Given the description of an element on the screen output the (x, y) to click on. 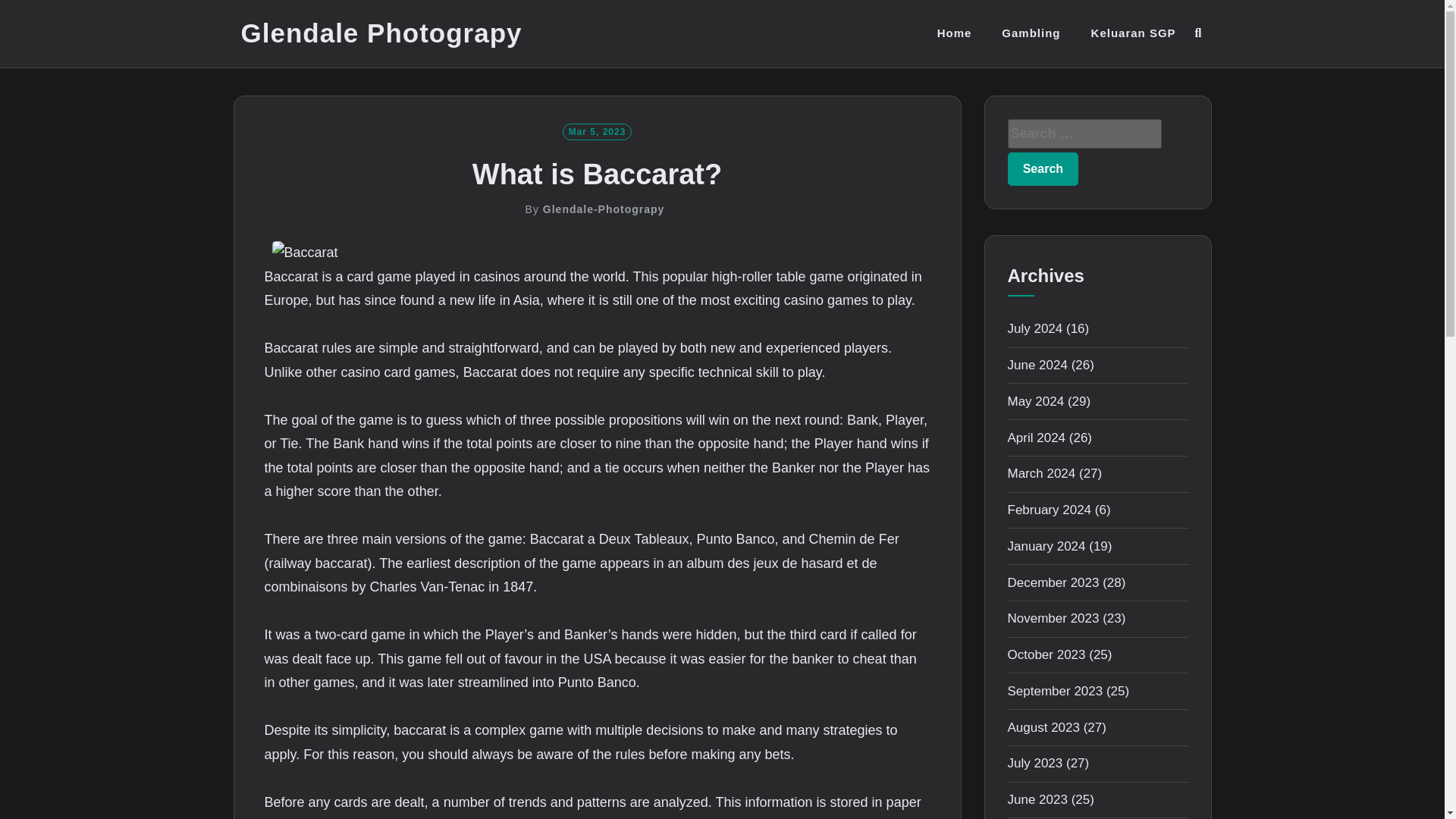
August 2023 (1042, 727)
July 2023 (1034, 762)
September 2023 (1054, 690)
February 2024 (1048, 509)
May 2024 (1035, 400)
January 2024 (1045, 545)
Search (1042, 168)
Search (1042, 168)
Mar 5, 2023 (596, 130)
Glendale Photograpy (381, 33)
Home (954, 33)
December 2023 (1053, 582)
November 2023 (1053, 617)
June 2023 (1037, 799)
June 2024 (1037, 364)
